Given the description of an element on the screen output the (x, y) to click on. 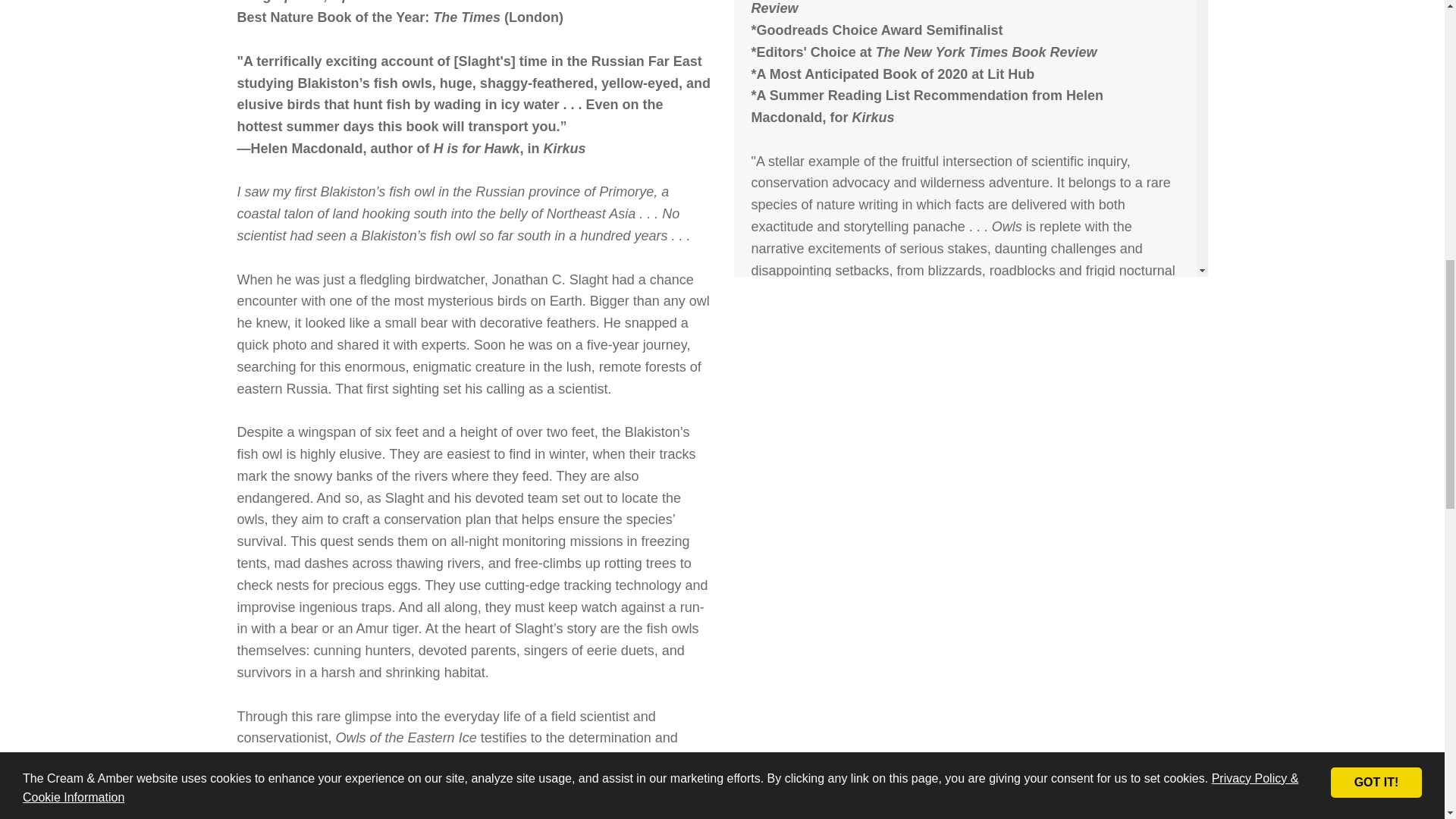
GOT IT! (1376, 55)
